Given the description of an element on the screen output the (x, y) to click on. 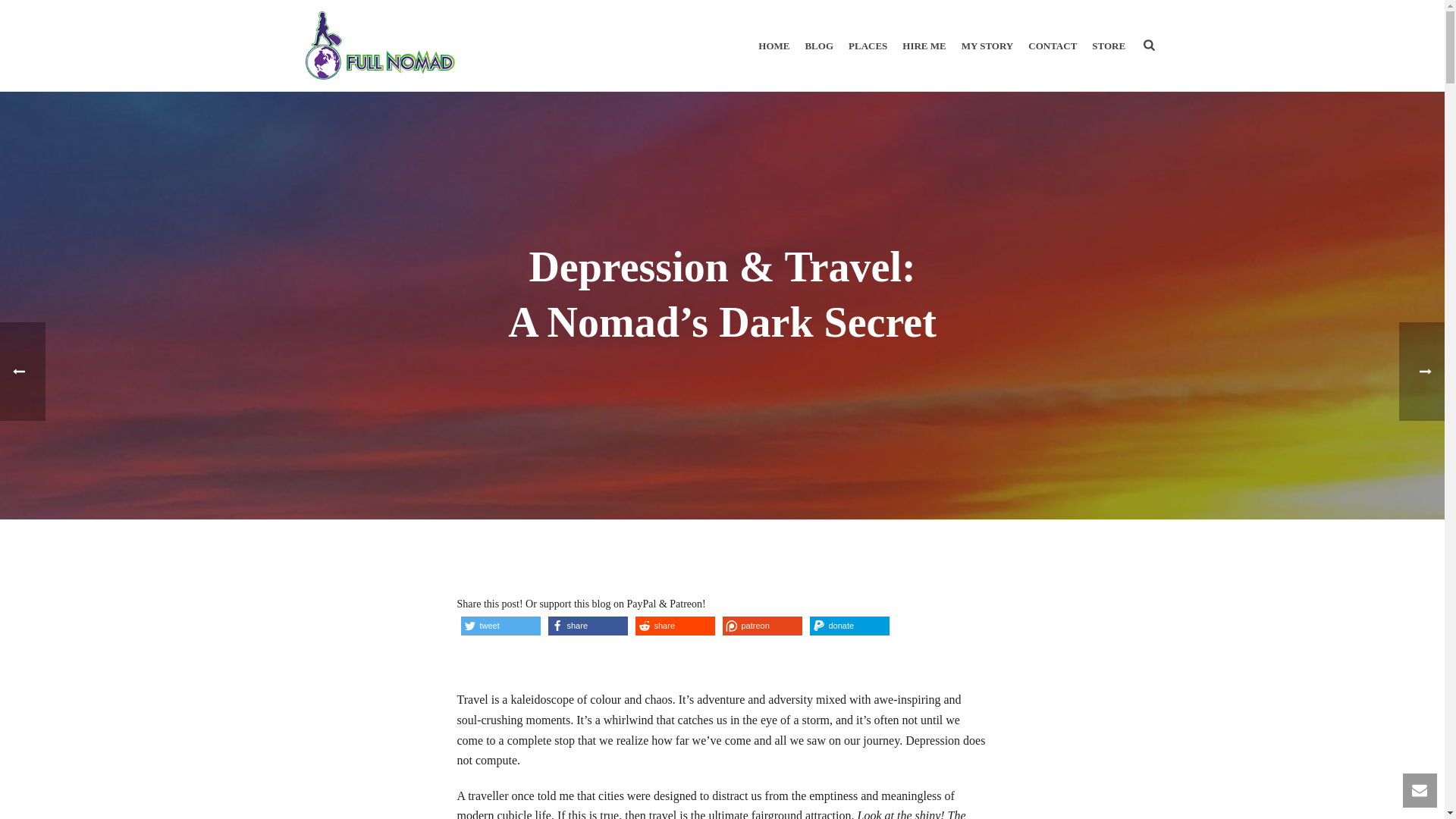
Donate with PayPal (849, 625)
STORE (1108, 45)
share  (674, 625)
CONTACT (1052, 45)
MY STORY (987, 45)
HIRE ME (924, 45)
HIRE ME (924, 45)
PLACES (868, 45)
Share on Reddit (674, 625)
HOME (773, 45)
